Given the description of an element on the screen output the (x, y) to click on. 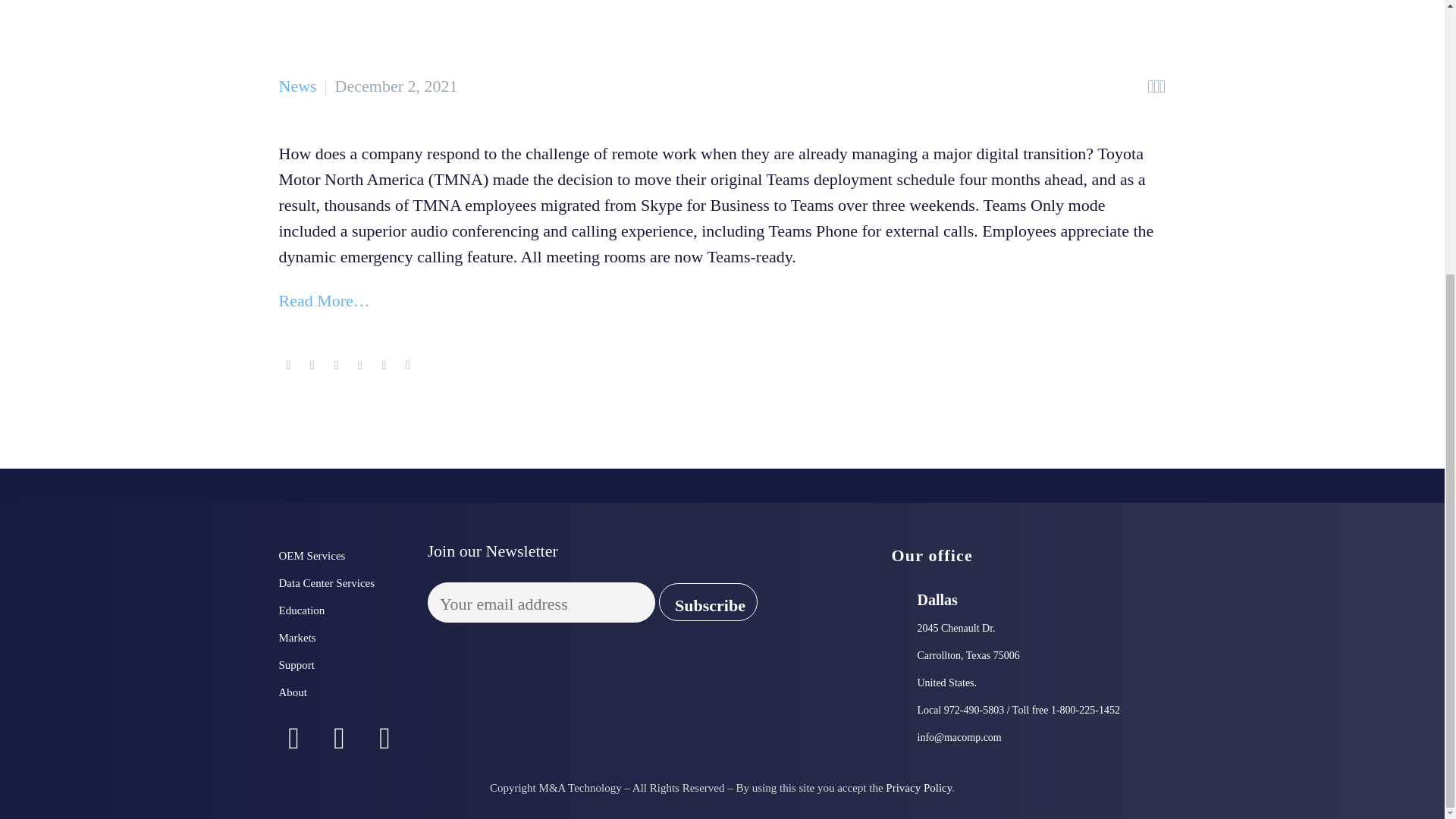
News (298, 85)
LinkedIn (383, 365)
Facebook (288, 365)
Twitter (311, 365)
Pinterest (336, 365)
Reddit (407, 365)
View all posts in News (298, 85)
Tumblr (359, 365)
Subscribe (708, 601)
